Given the description of an element on the screen output the (x, y) to click on. 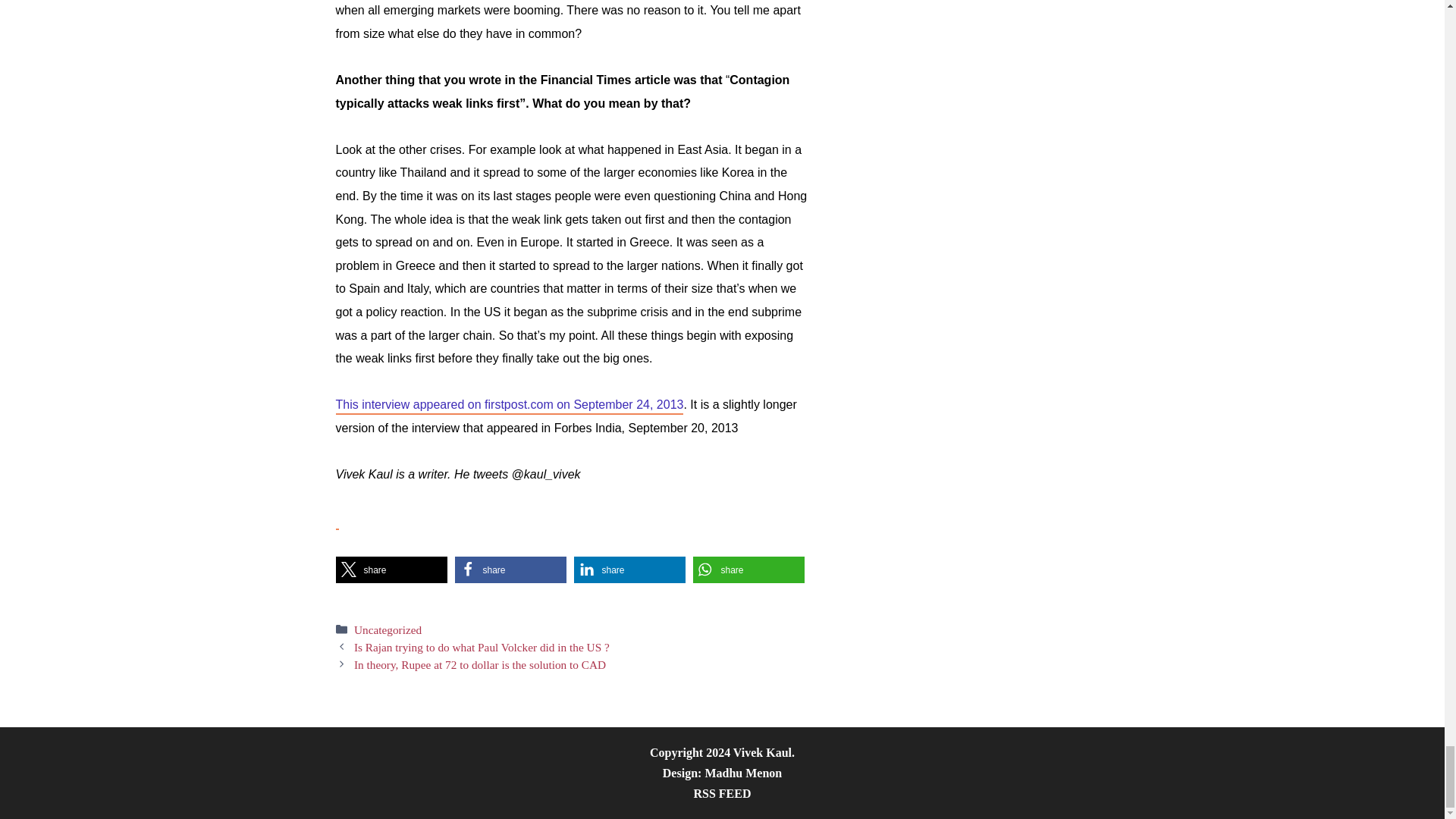
Share on LinkedIn (628, 569)
Next (479, 664)
Share on Whatsapp (749, 569)
share  (749, 569)
share  (390, 569)
share  (510, 569)
Previous (481, 646)
Share on Facebook (510, 569)
Share on X (390, 569)
share  (628, 569)
